Given the description of an element on the screen output the (x, y) to click on. 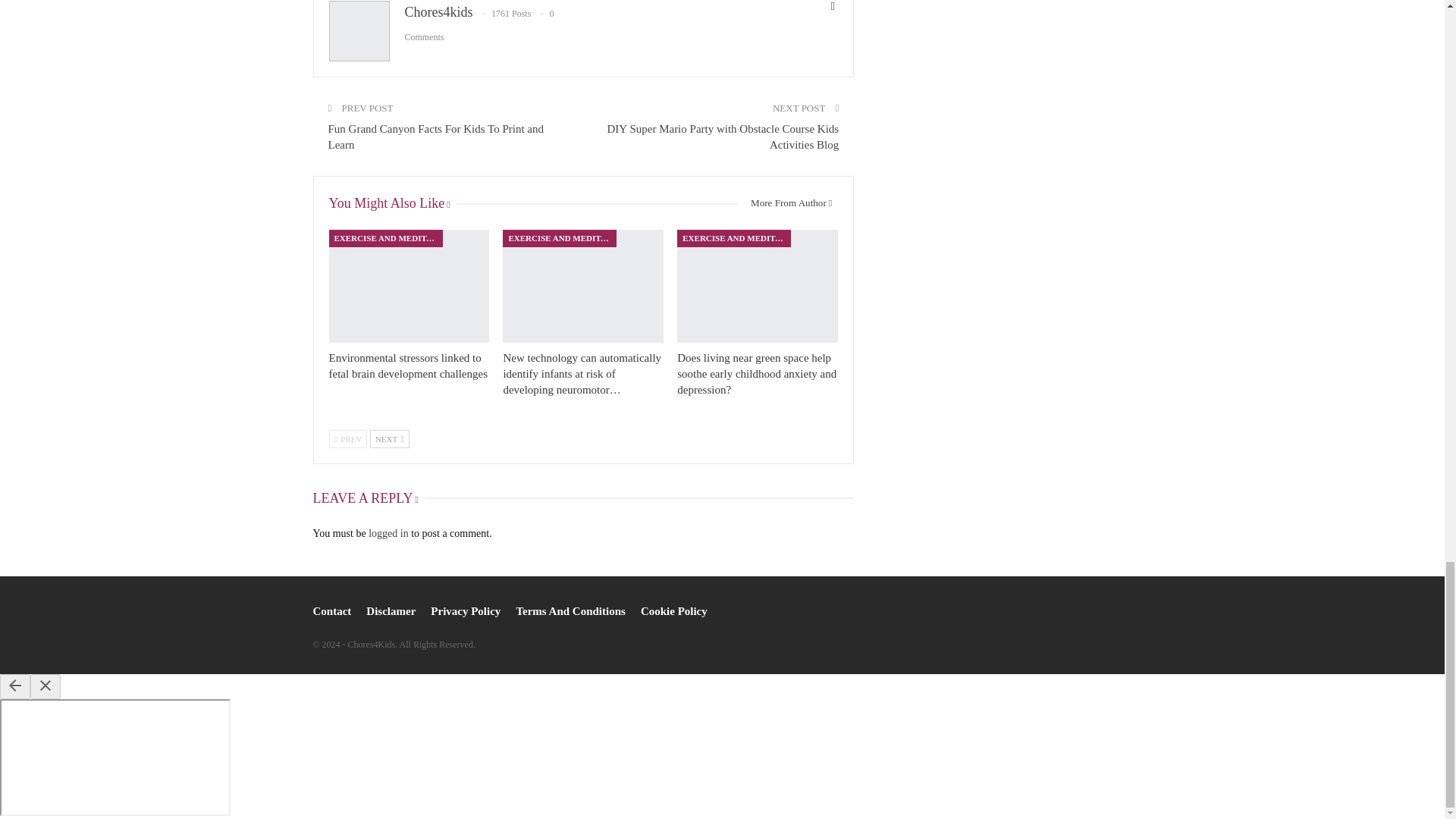
Fun Grand Canyon Facts For Kids To Print and Learn (435, 136)
Chores4kids (438, 11)
